Given the description of an element on the screen output the (x, y) to click on. 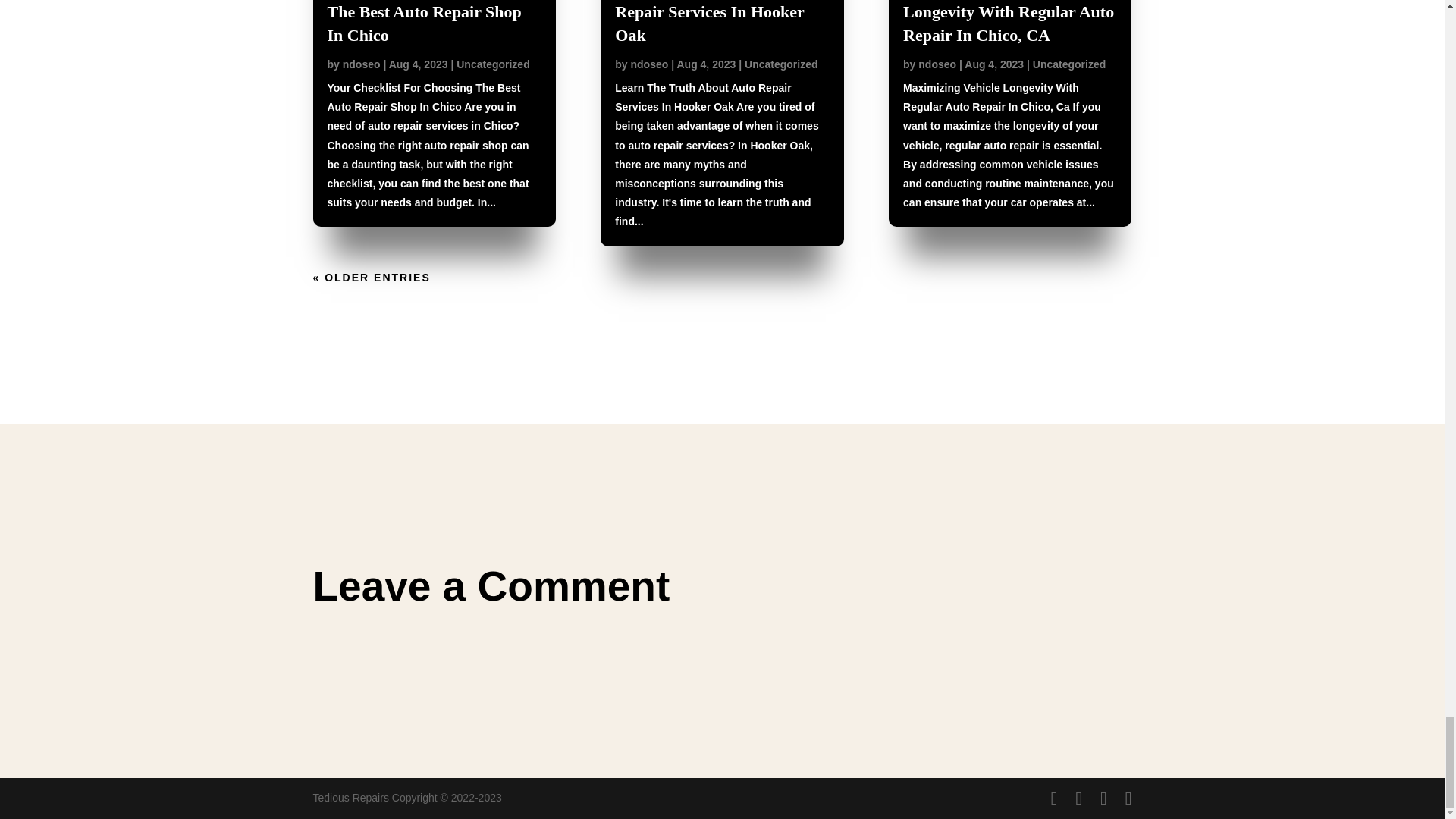
Posts by ndoseo (361, 64)
Posts by ndoseo (649, 64)
Posts by ndoseo (937, 64)
